Given the description of an element on the screen output the (x, y) to click on. 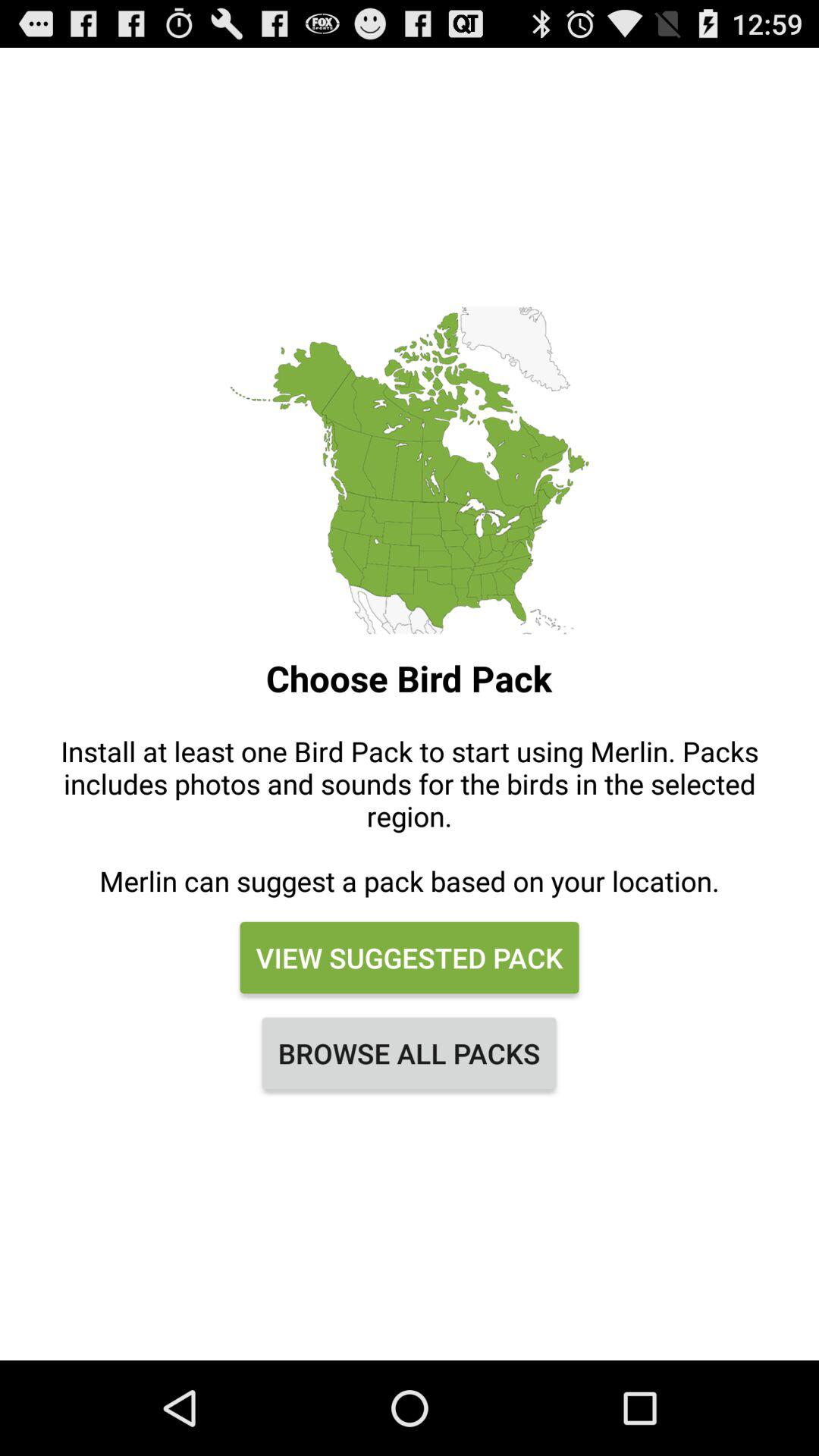
choose browse all packs (409, 1053)
